Given the description of an element on the screen output the (x, y) to click on. 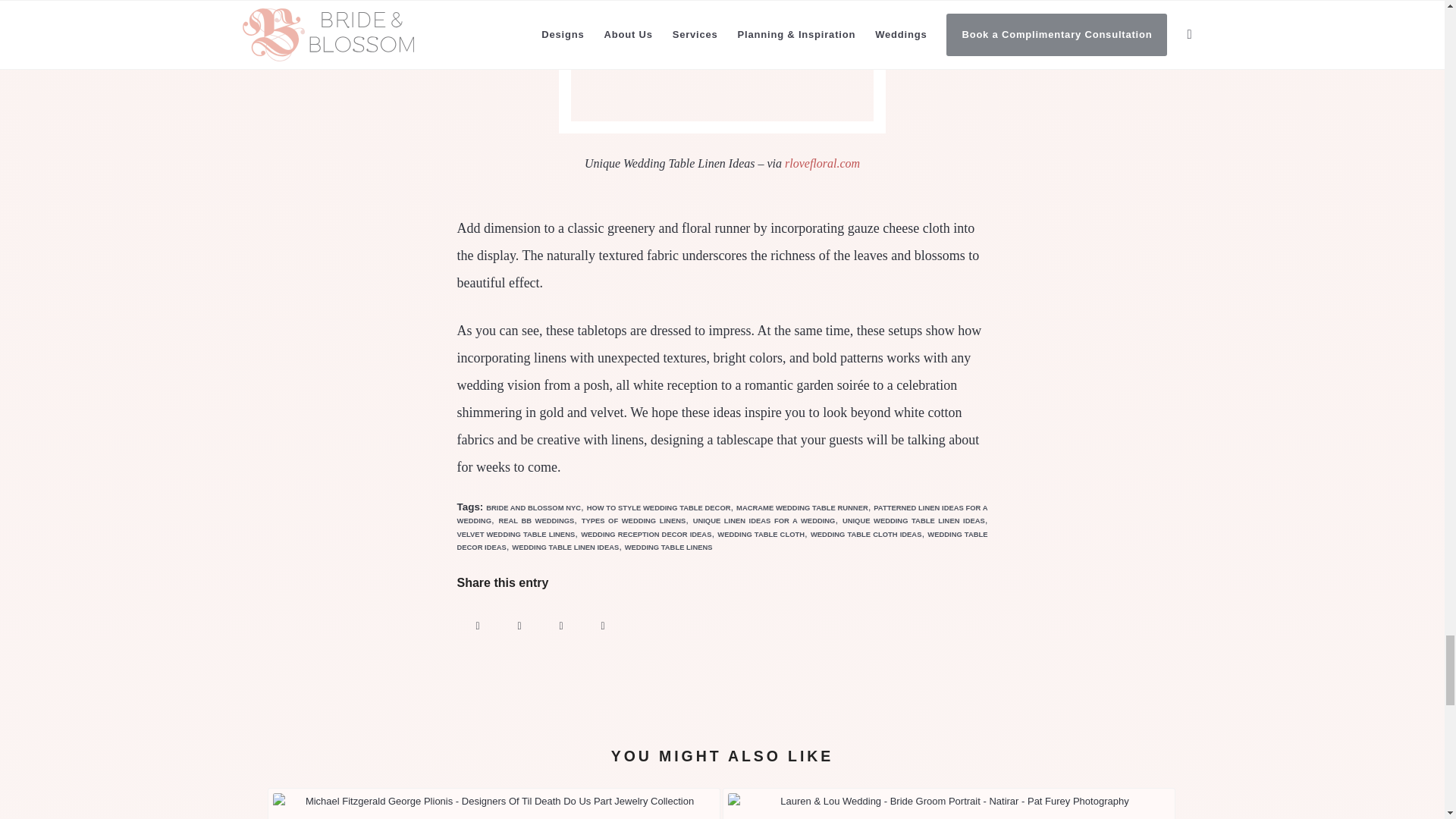
PATTERNED LINEN IDEAS FOR A WEDDING (722, 513)
MACRAME WEDDING TABLE RUNNER (801, 507)
rlovefloral.com (822, 163)
WEDDING RECEPTION DECOR IDEAS (645, 533)
REAL BB WEDDINGS (535, 520)
UNIQUE LINEN IDEAS FOR A WEDDING (764, 520)
WEDDING TABLE CLOTH IDEAS (865, 533)
HOW TO STYLE WEDDING TABLE DECOR (658, 507)
BRIDE AND BLOSSOM NYC (533, 507)
VELVET WEDDING TABLE LINENS (516, 533)
